Given the description of an element on the screen output the (x, y) to click on. 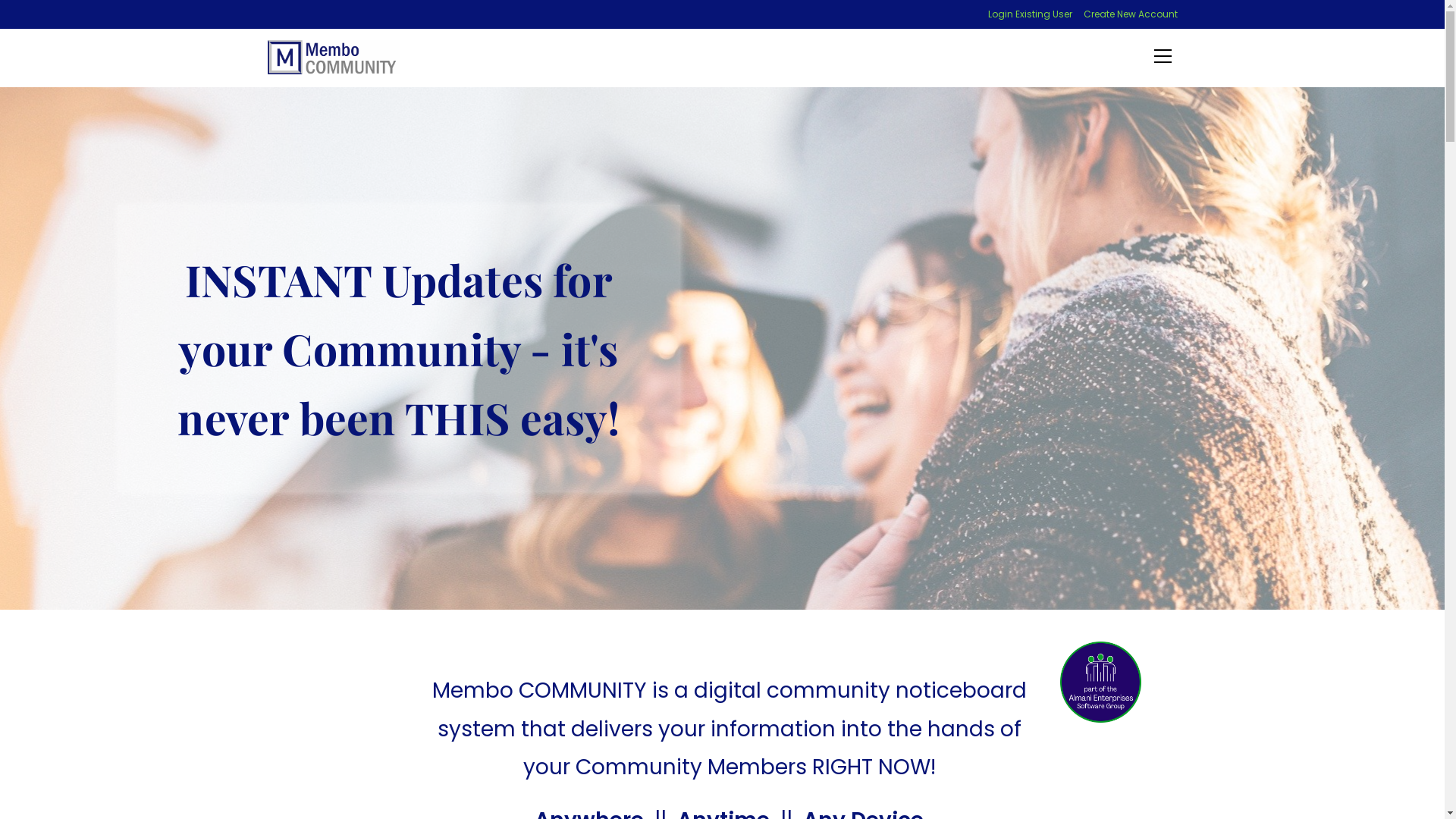
Login Existing User Element type: text (1029, 14)
Create New Account Element type: text (1129, 14)
